Given the description of an element on the screen output the (x, y) to click on. 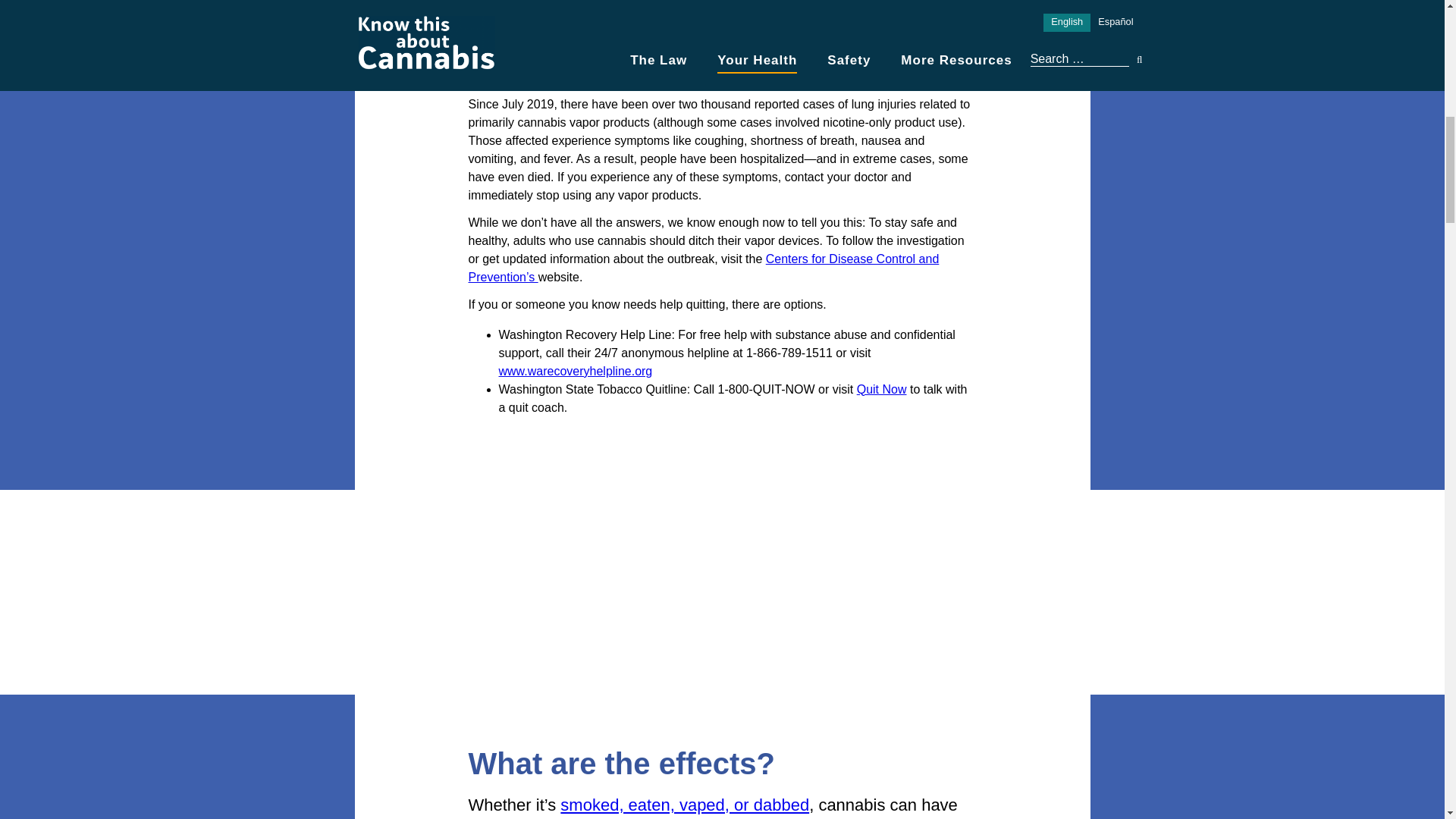
smoked, eaten, vaped, or dabbed (684, 804)
Quit Now (882, 388)
www.warecoveryhelpline.org (575, 369)
